Given the description of an element on the screen output the (x, y) to click on. 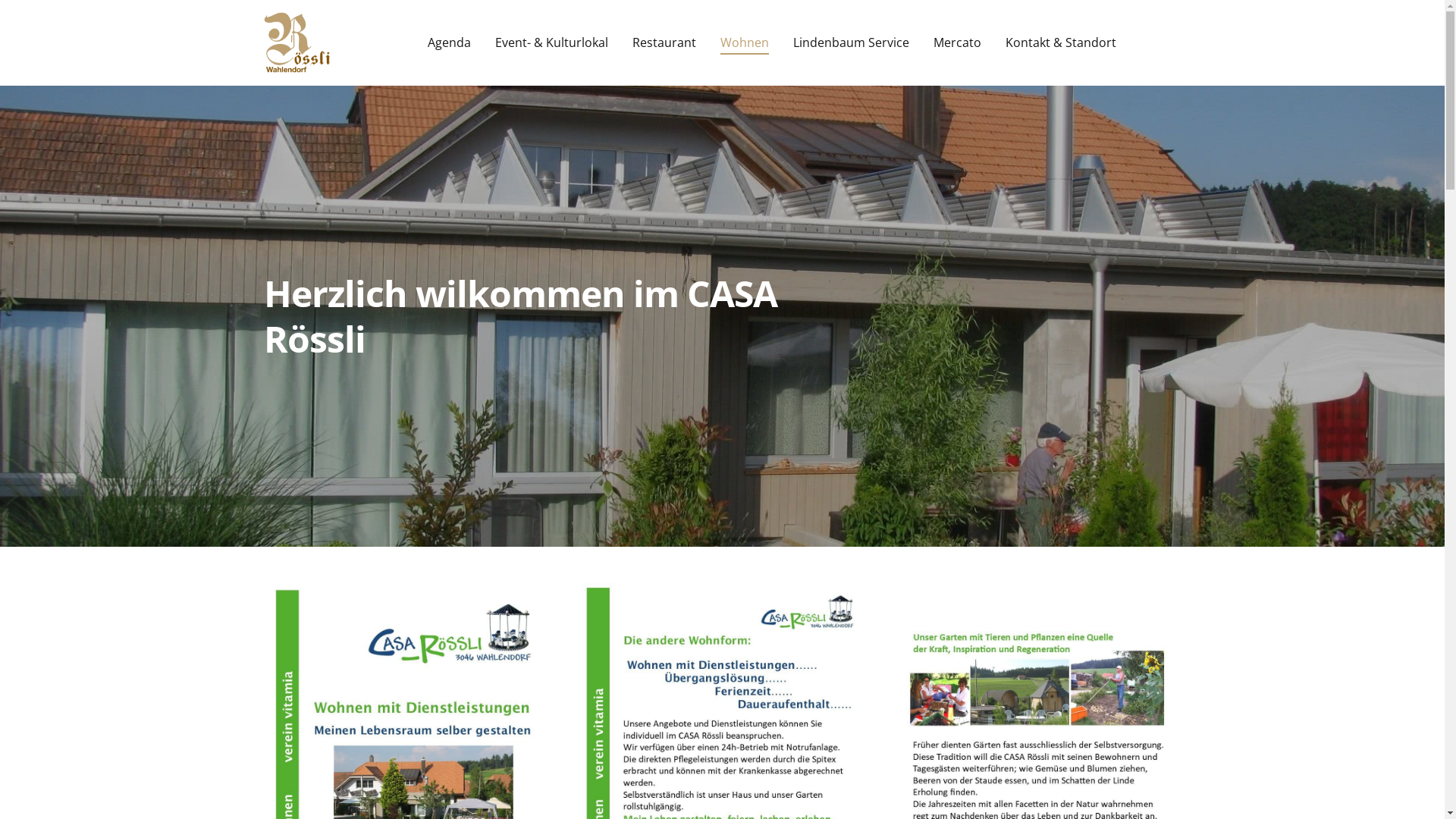
Mercato Element type: text (956, 42)
Restaurant Element type: text (664, 42)
Lindenbaum Service Element type: text (851, 42)
Event- & Kulturlokal Element type: text (550, 42)
Kontakt & Standort Element type: text (1060, 42)
Wohnen Element type: text (744, 42)
Agenda Element type: text (449, 42)
